Given the description of an element on the screen output the (x, y) to click on. 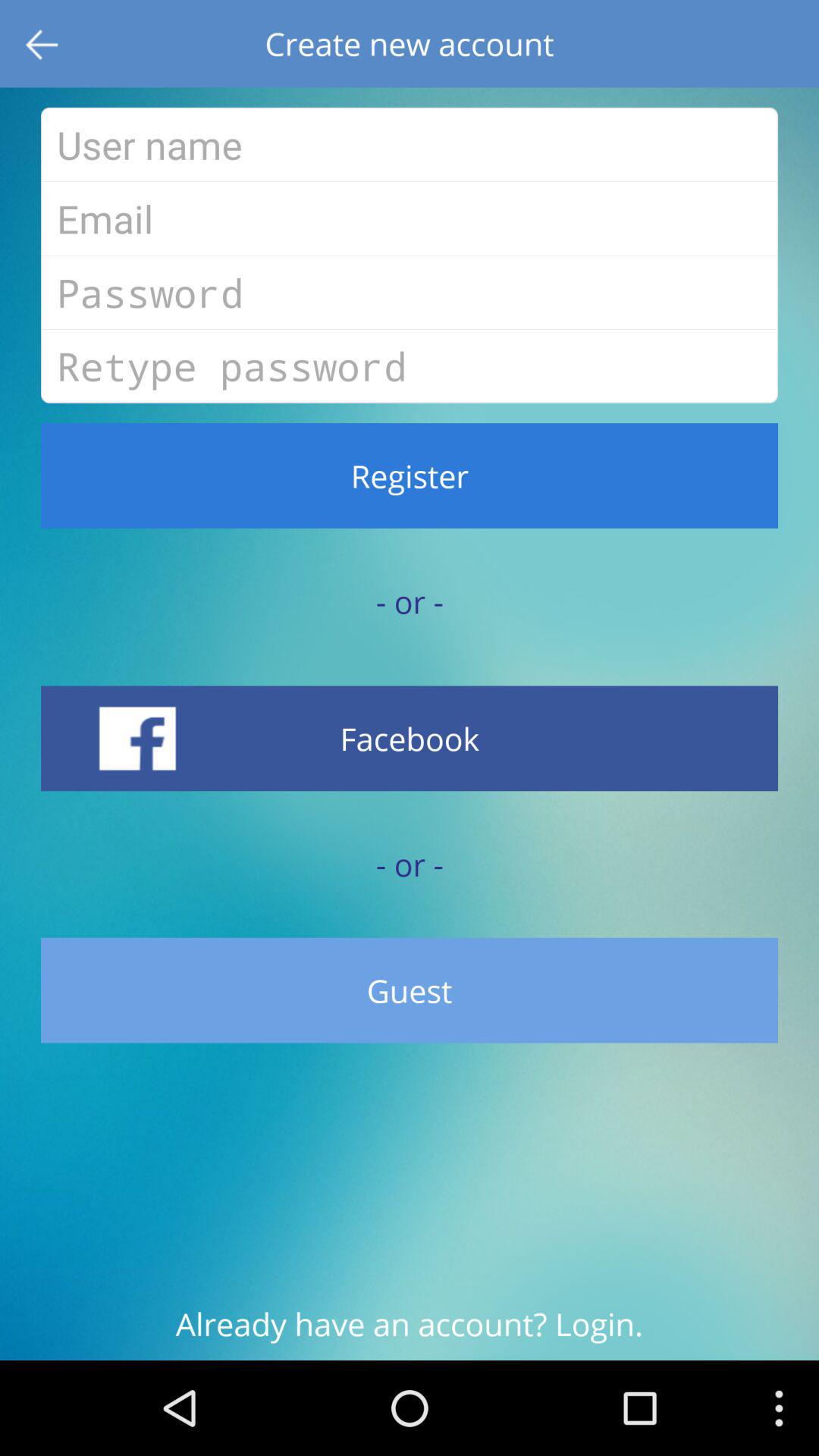
flip to the already have an item (409, 1331)
